Given the description of an element on the screen output the (x, y) to click on. 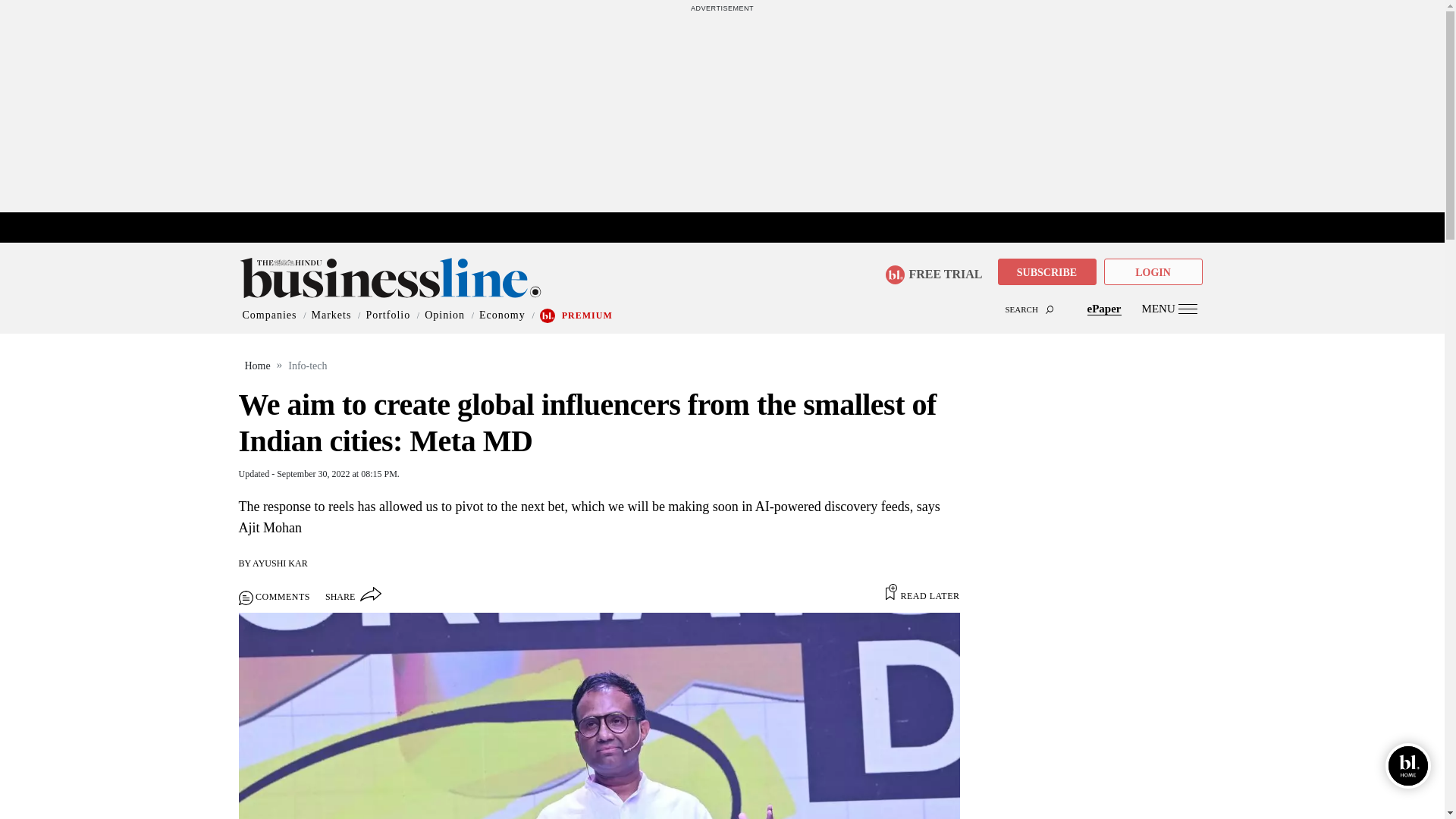
PREMIUM (587, 315)
Companies (270, 315)
marketupdate (729, 228)
SUBSCRIBE (1046, 270)
SEARCH (721, 295)
FREE TRIAL (938, 269)
Opinion (444, 315)
Portfolio (387, 315)
LOGIN (1152, 270)
FREE TRIAL (933, 275)
MENU (1168, 308)
Economy (502, 315)
SUBSCRIBE (1046, 272)
